Given the description of an element on the screen output the (x, y) to click on. 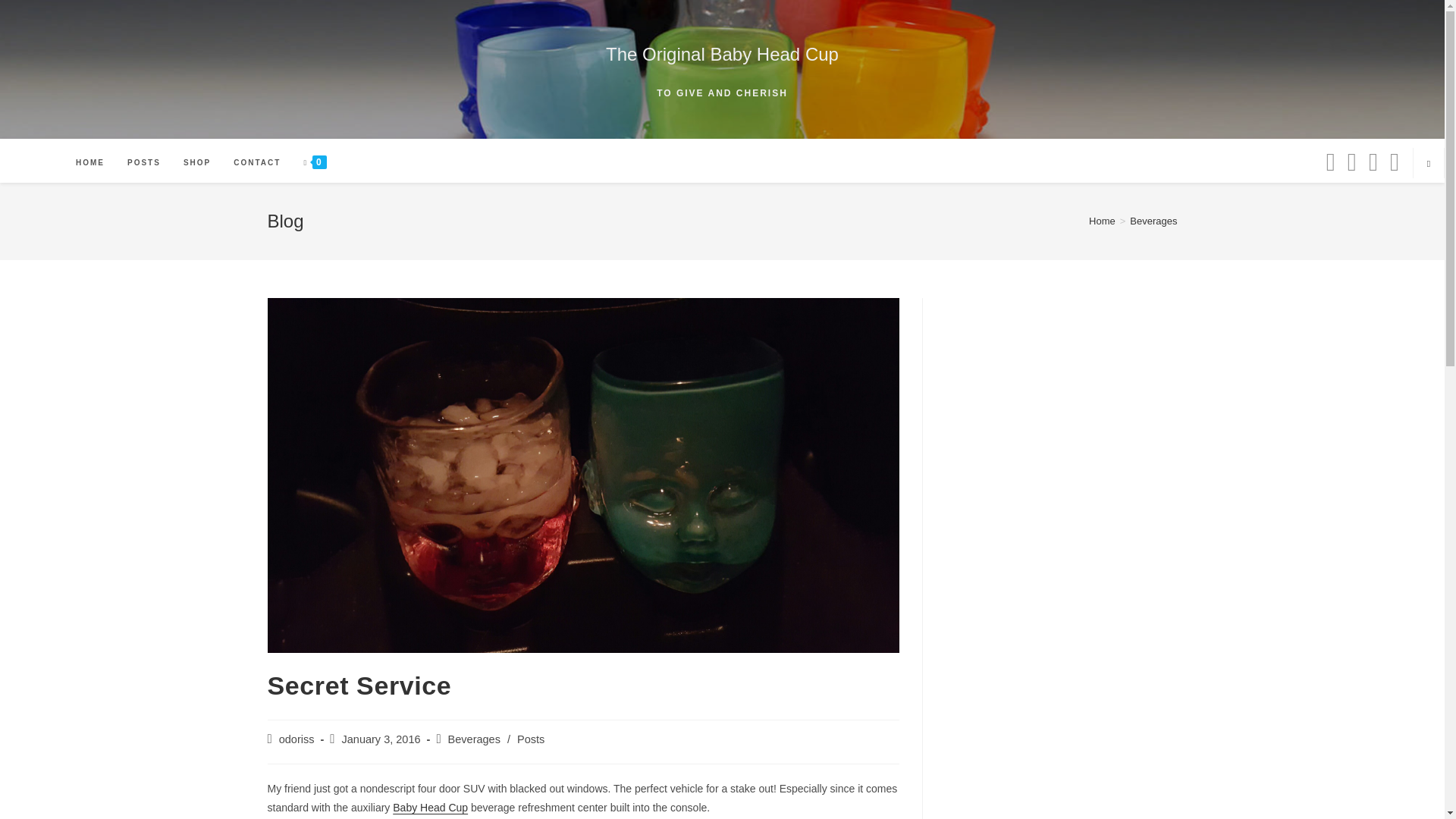
SHOP (196, 163)
POSTS (143, 163)
CONTACT (257, 163)
Posts (530, 739)
Posts by odoriss (296, 739)
Home (1102, 220)
The Original Baby Head Cup (721, 54)
Baby Head Cup (430, 807)
0 (314, 163)
